Given the description of an element on the screen output the (x, y) to click on. 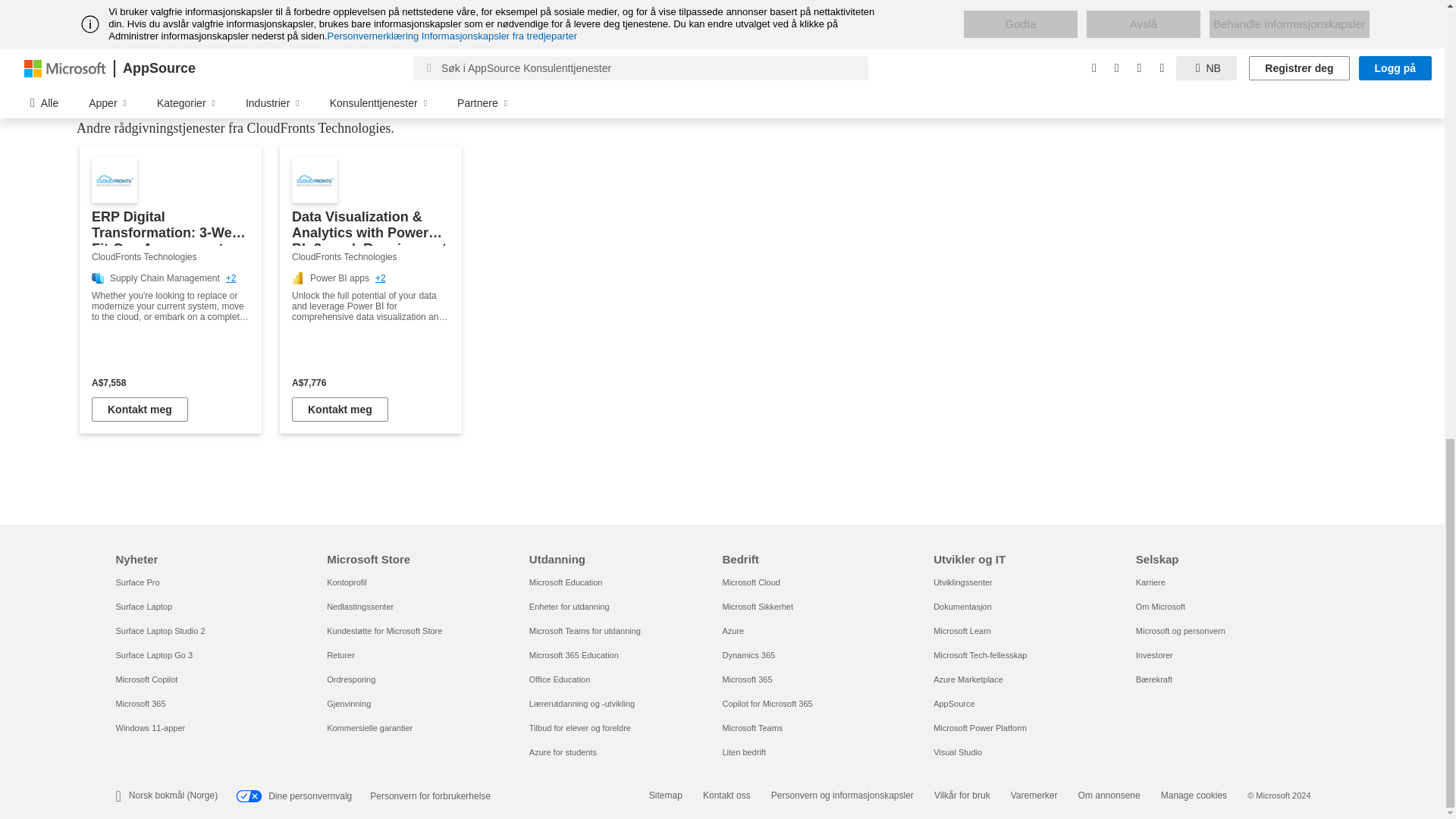
Microsoft 365 (140, 703)
Windows 11-apper (149, 727)
Kontakt meg (340, 409)
Surface Pro (136, 582)
Kontakt meg (139, 409)
Microsoft Copilot (146, 678)
Surface Laptop Go 3 (153, 655)
Surface Laptop (143, 605)
Surface Laptop Studio 2 (160, 630)
